Given the description of an element on the screen output the (x, y) to click on. 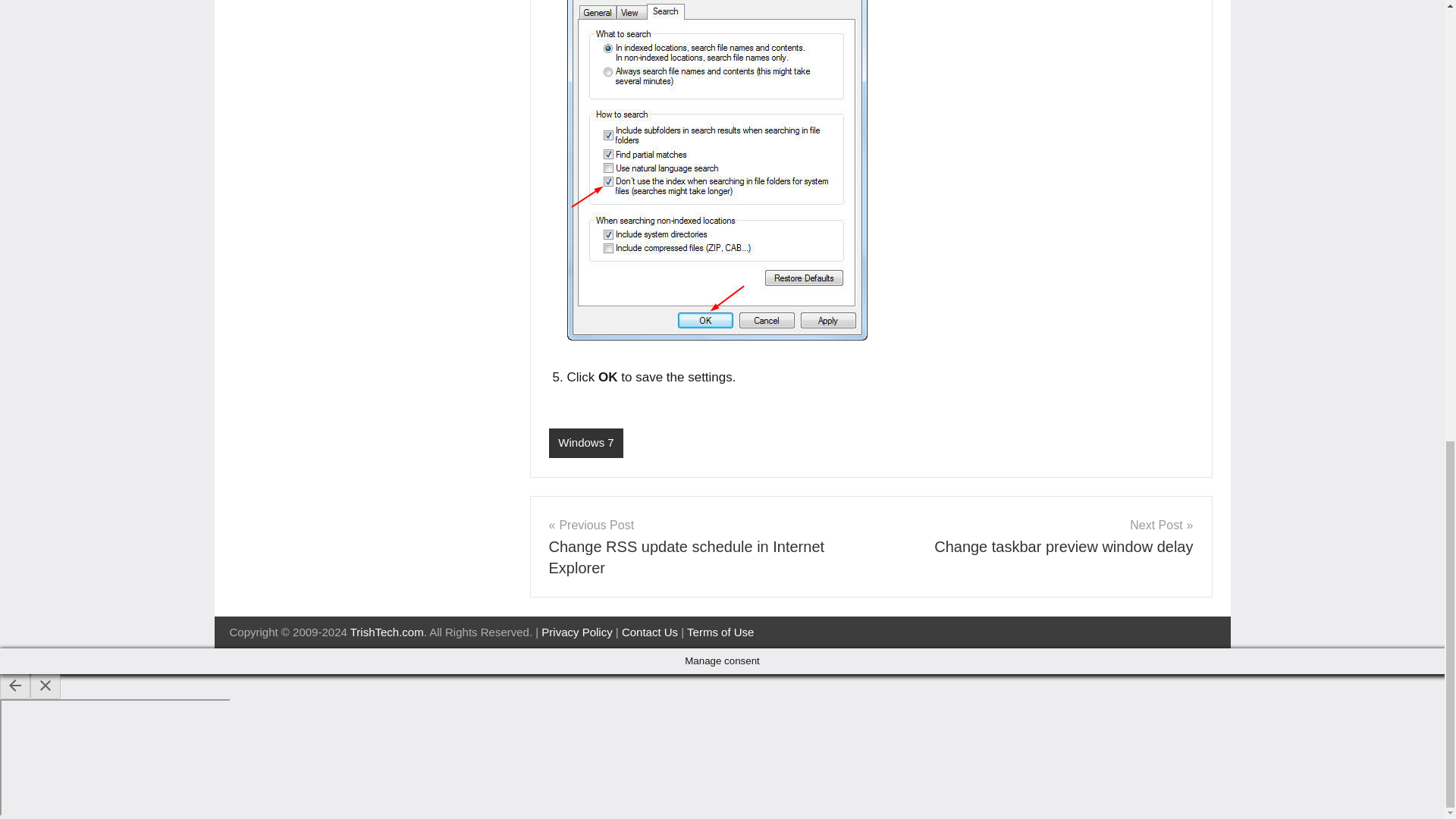
Privacy Policy (576, 631)
TrishTech.com (386, 631)
Contact Us (1037, 536)
Windows 7 (649, 631)
Terms of Use (586, 442)
